Given the description of an element on the screen output the (x, y) to click on. 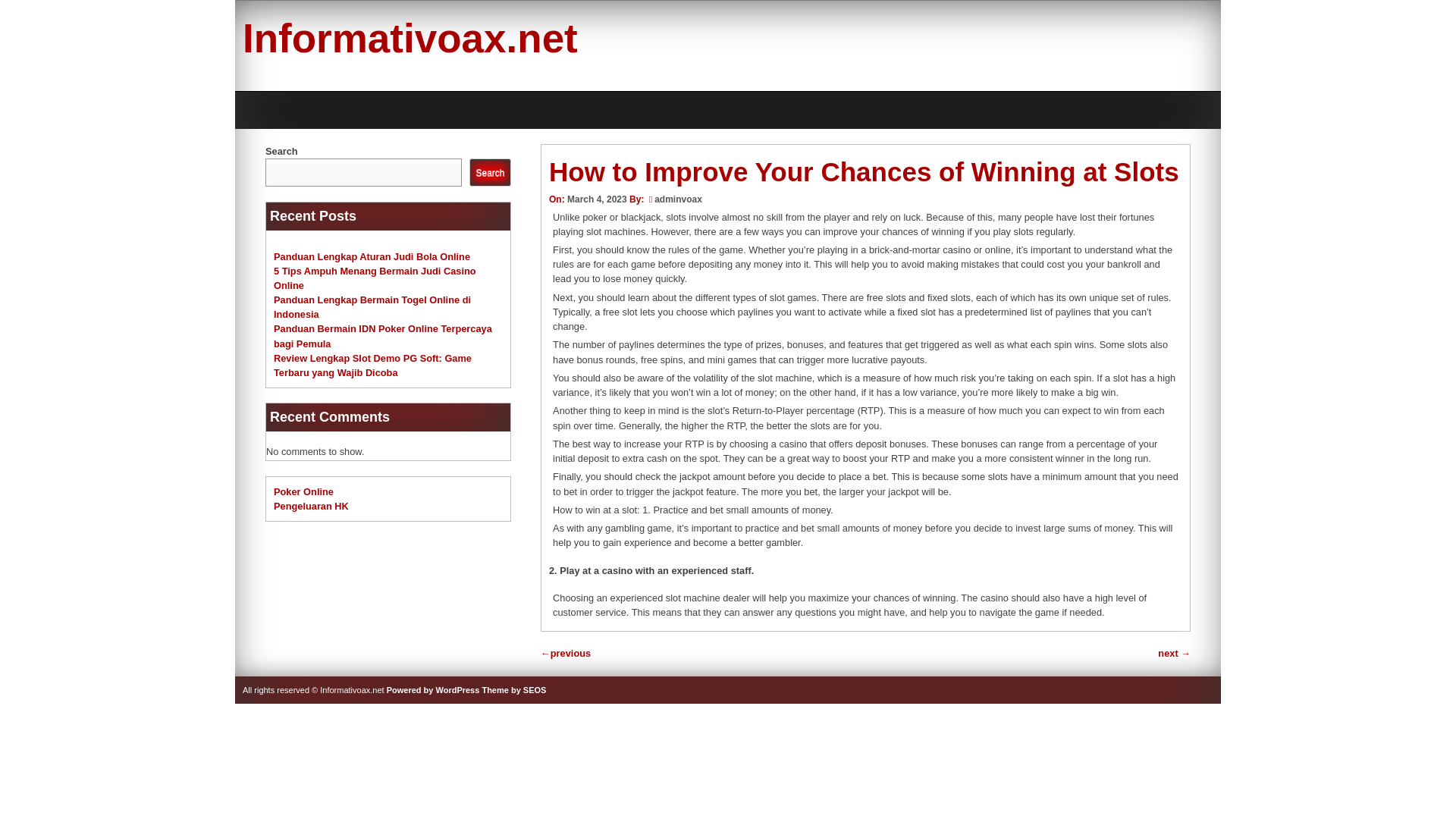
Pengeluaran HK (311, 505)
adminvoax (677, 199)
Panduan Lengkap Bermain Togel Online di Indonesia (371, 307)
Theme by SEOS (513, 689)
5 Tips Ampuh Menang Bermain Judi Casino Online (374, 278)
Poker Online (303, 491)
Search (489, 172)
Panduan Lengkap Aturan Judi Bola Online (371, 255)
Seos free wordpress themes (513, 689)
Powered by WordPress (433, 689)
March 4, 2023 (597, 199)
Panduan Bermain IDN Poker Online Terpercaya bagi Pemula (382, 335)
Informativoax.net (410, 37)
